Given the description of an element on the screen output the (x, y) to click on. 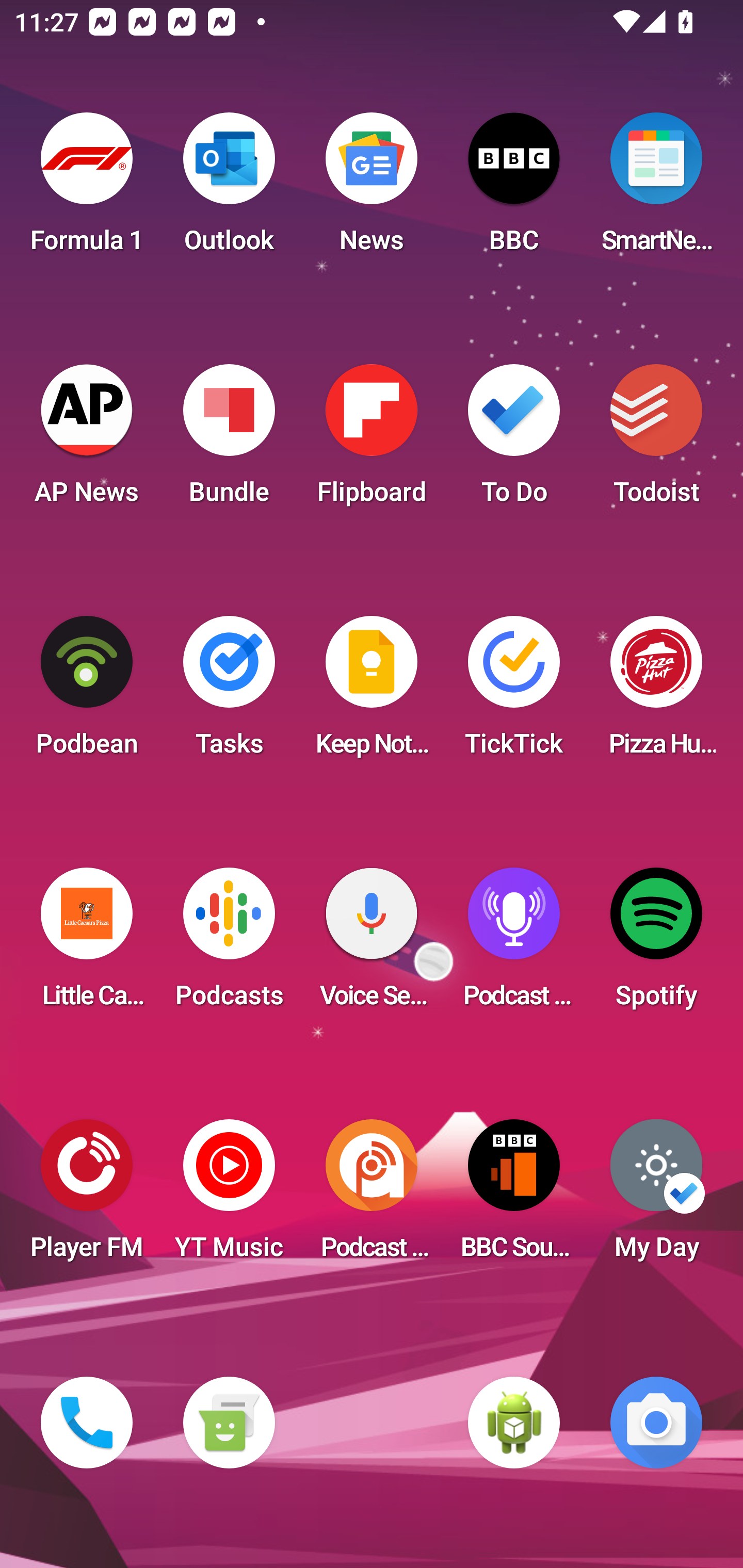
Formula 1 (86, 188)
Outlook (228, 188)
News (371, 188)
BBC (513, 188)
SmartNews (656, 188)
AP News (86, 440)
Bundle (228, 440)
Flipboard (371, 440)
To Do (513, 440)
Todoist (656, 440)
Podbean (86, 692)
Tasks (228, 692)
Keep Notes (371, 692)
TickTick (513, 692)
Pizza Hut HK & Macau (656, 692)
Little Caesars Pizza (86, 943)
Podcasts (228, 943)
Voice Search (371, 943)
Podcast Player (513, 943)
Spotify (656, 943)
Player FM (86, 1195)
YT Music (228, 1195)
Podcast Addict (371, 1195)
BBC Sounds (513, 1195)
My Day (656, 1195)
Phone (86, 1422)
Messaging (228, 1422)
WebView Browser Tester (513, 1422)
Camera (656, 1422)
